Given the description of an element on the screen output the (x, y) to click on. 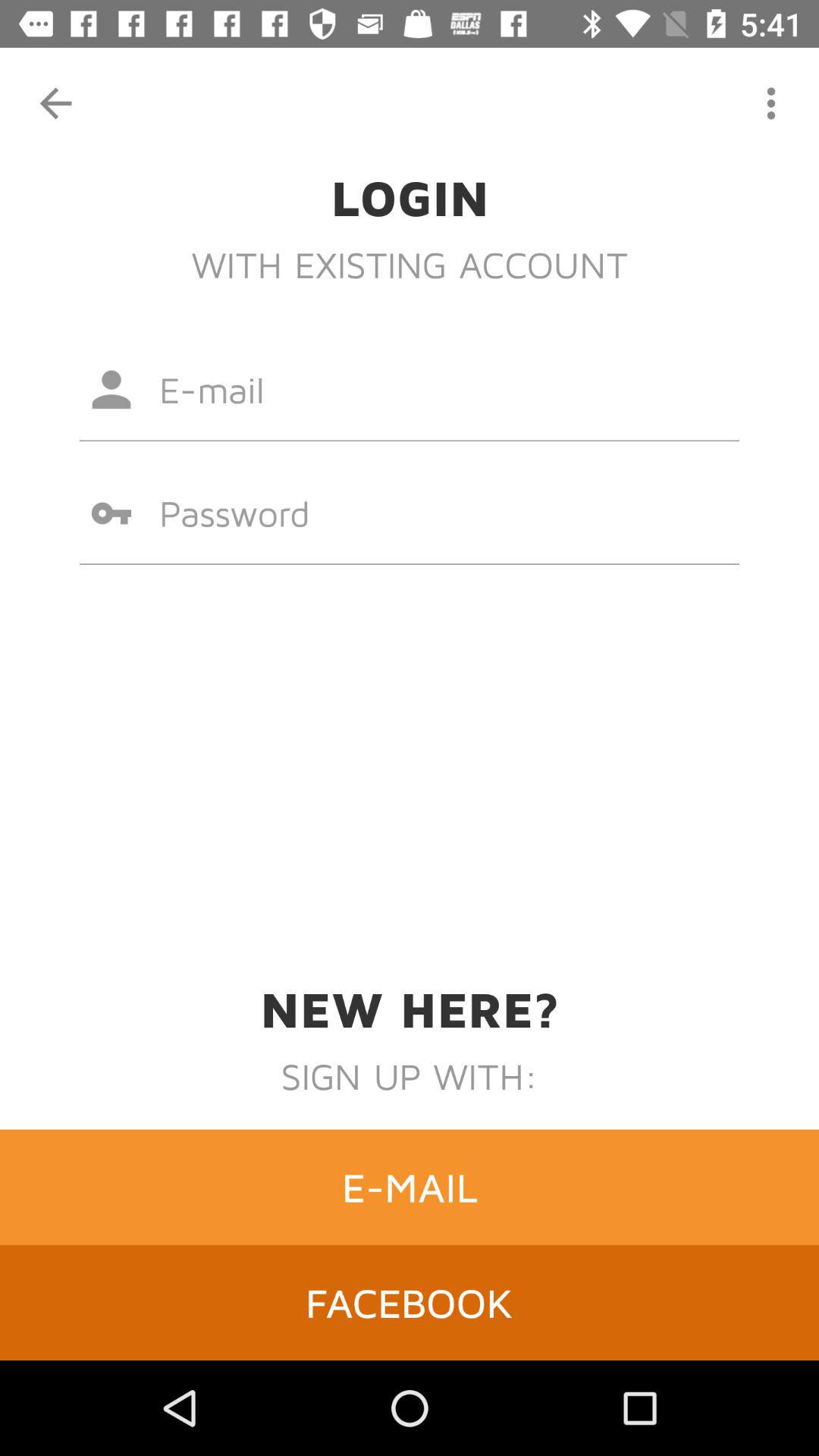
turn off icon at the center (409, 512)
